Given the description of an element on the screen output the (x, y) to click on. 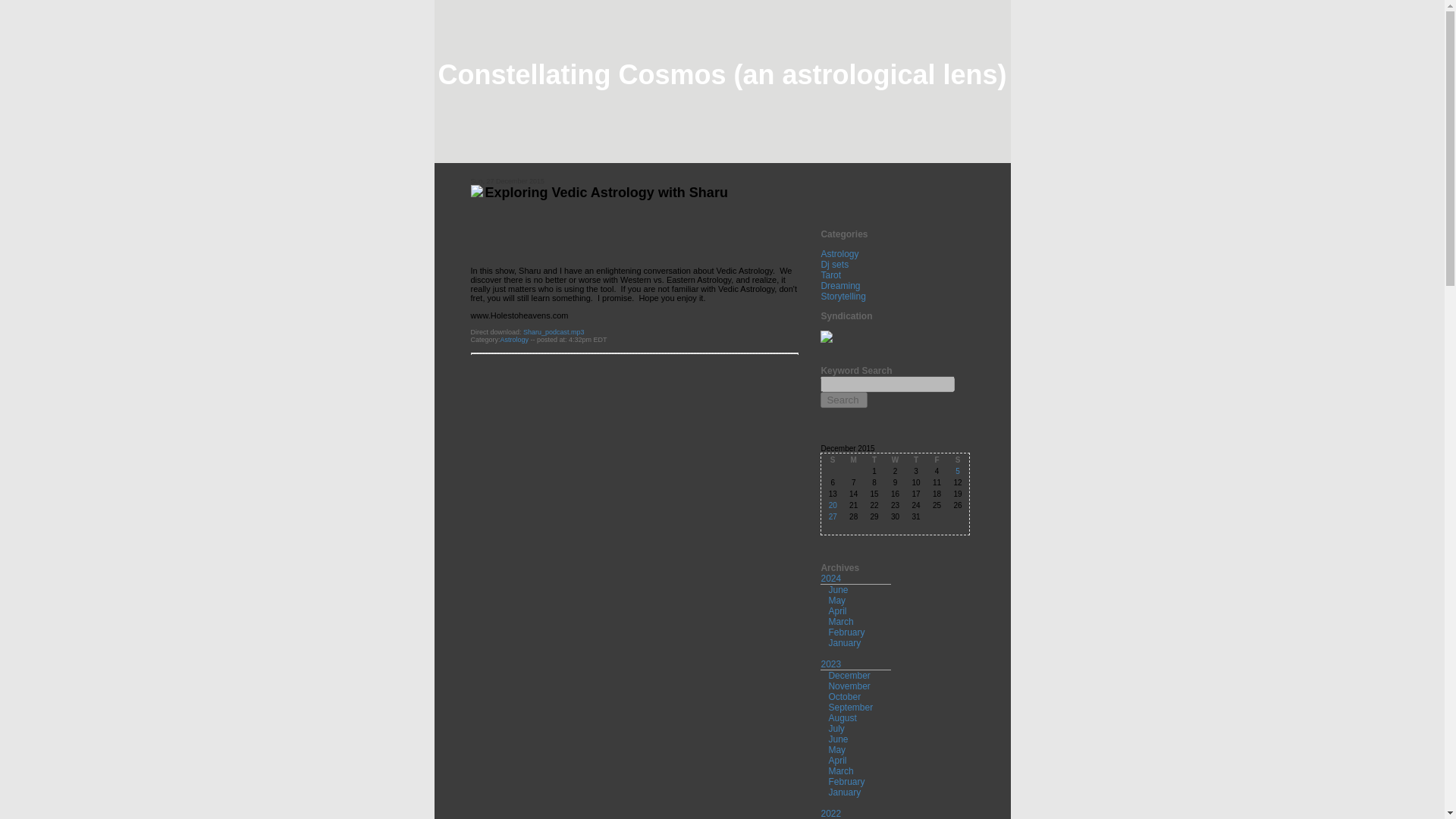
Storytelling (842, 296)
June (837, 589)
June (837, 738)
Astrology (840, 253)
February (846, 781)
May (836, 749)
Dreaming (840, 285)
March (840, 770)
Search  (844, 399)
Libsyn Player (633, 228)
2023 (831, 664)
Saturday (957, 460)
2022 (831, 813)
Astrology (514, 339)
Friday (936, 460)
